Given the description of an element on the screen output the (x, y) to click on. 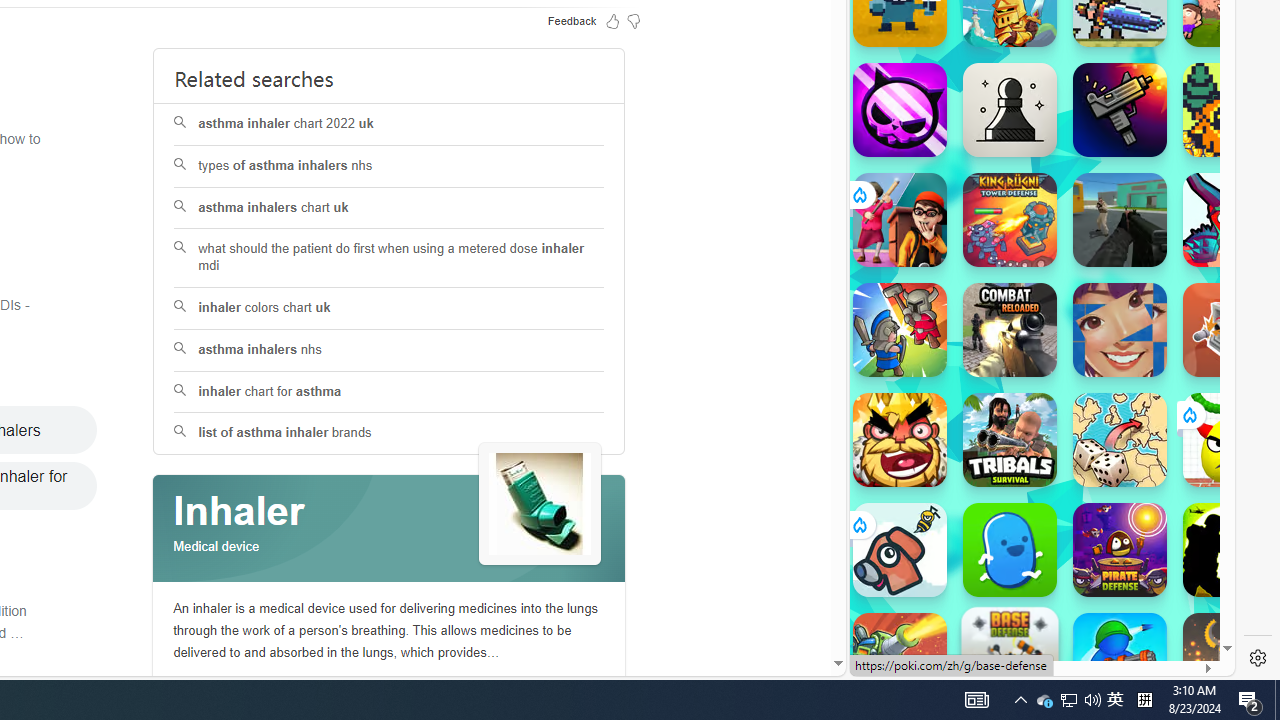
Feedback Like (612, 20)
Merge Arena Merge Arena (899, 329)
Funny Shooter 2 (1229, 219)
Search more (792, 604)
Ragdoll Hit (1229, 659)
Island Odyssey: Return of the Sea (1229, 109)
list of asthma inhaler brands (389, 434)
King Rugni King Rugni (1009, 219)
Save Dogogo Save Dogogo (899, 549)
Crazy Cars (1217, 290)
Jigsaw Gems (1119, 329)
Ragdoll Hit Ragdoll Hit (1229, 659)
Pirate Defense Pirate Defense (1119, 549)
See more images of Inhaler (539, 505)
Hills of Steel Hills of Steel poki.com (943, 245)
